Given the description of an element on the screen output the (x, y) to click on. 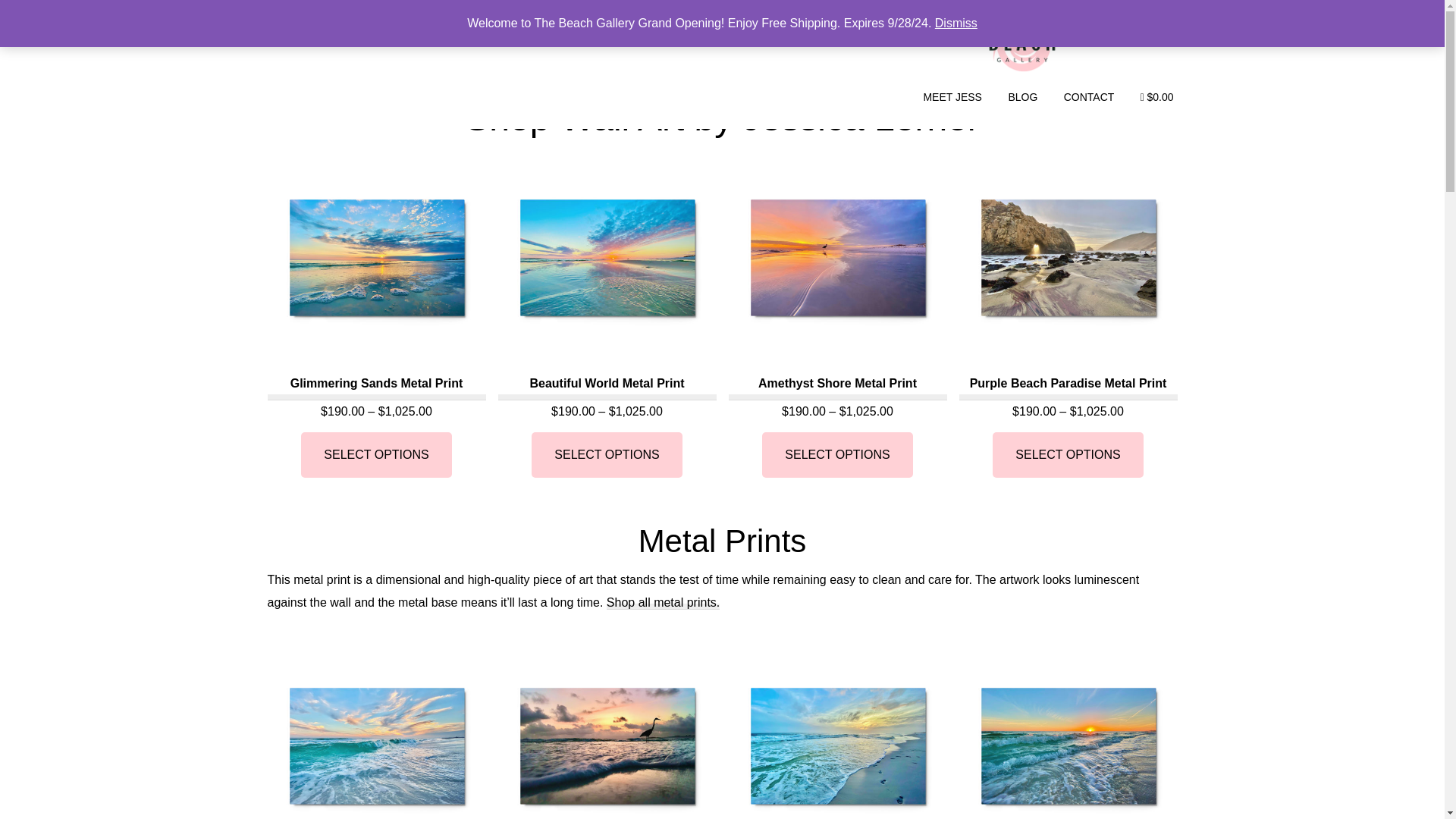
Shop all metal prints. (663, 602)
CANVAS (431, 34)
SHOP ART (296, 34)
BLOG (1021, 95)
Solitary Heron and Soft Pink Skies Metal Print (606, 728)
SELECT OPTIONS (606, 454)
SELECT OPTIONS (376, 454)
Lost My Heart to the Ocean Metal Print (1067, 728)
METAL (367, 34)
SELECT OPTIONS (836, 454)
Long Walks on the Beach Metal Print (837, 728)
POSTERS (504, 34)
Sweet Surrender Metal Print (375, 728)
SELECT OPTIONS (1067, 454)
